Given the description of an element on the screen output the (x, y) to click on. 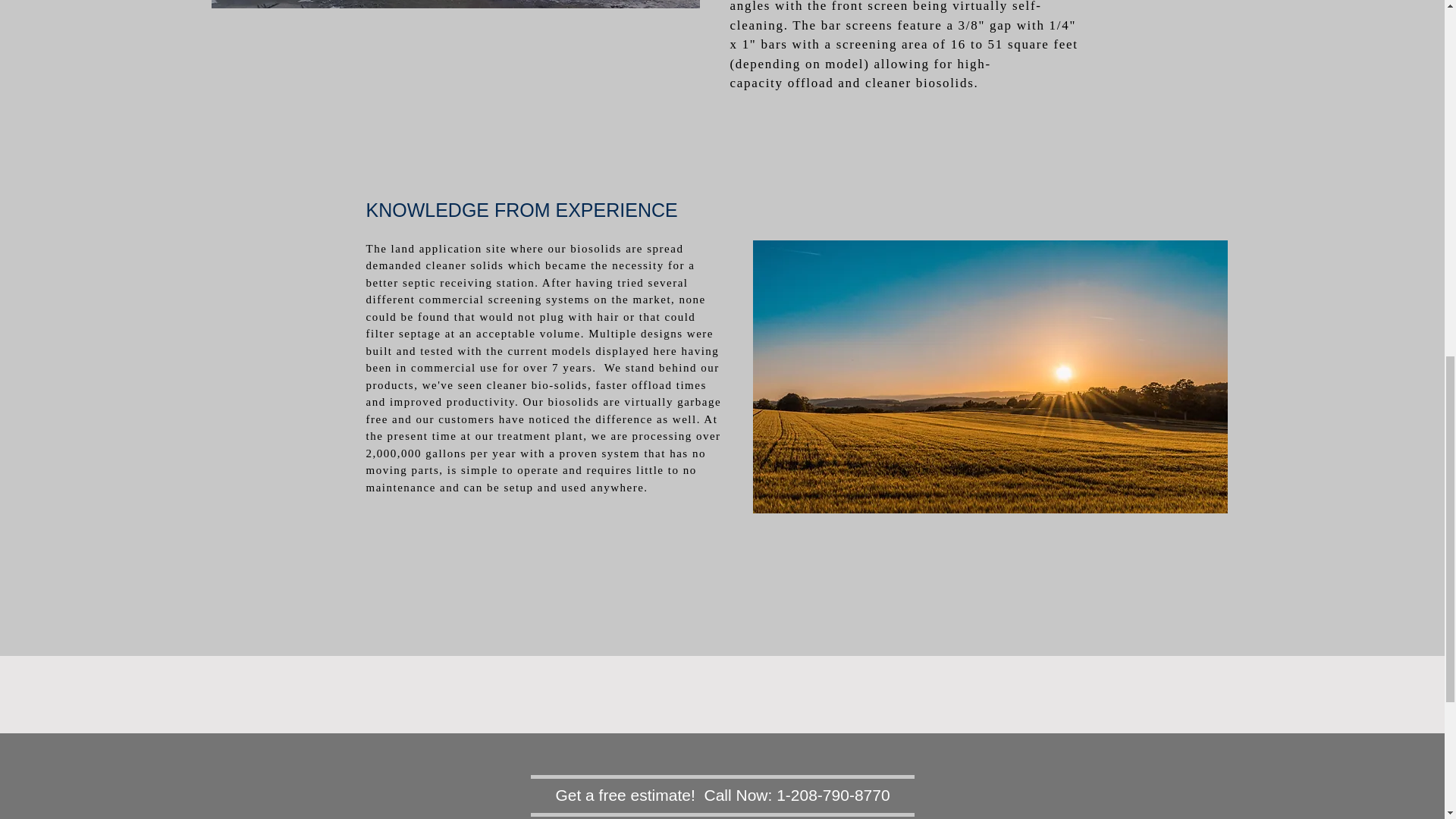
7f56627a000531e61cd49fa1b8e1ac3b.jfif (454, 3)
